Given the description of an element on the screen output the (x, y) to click on. 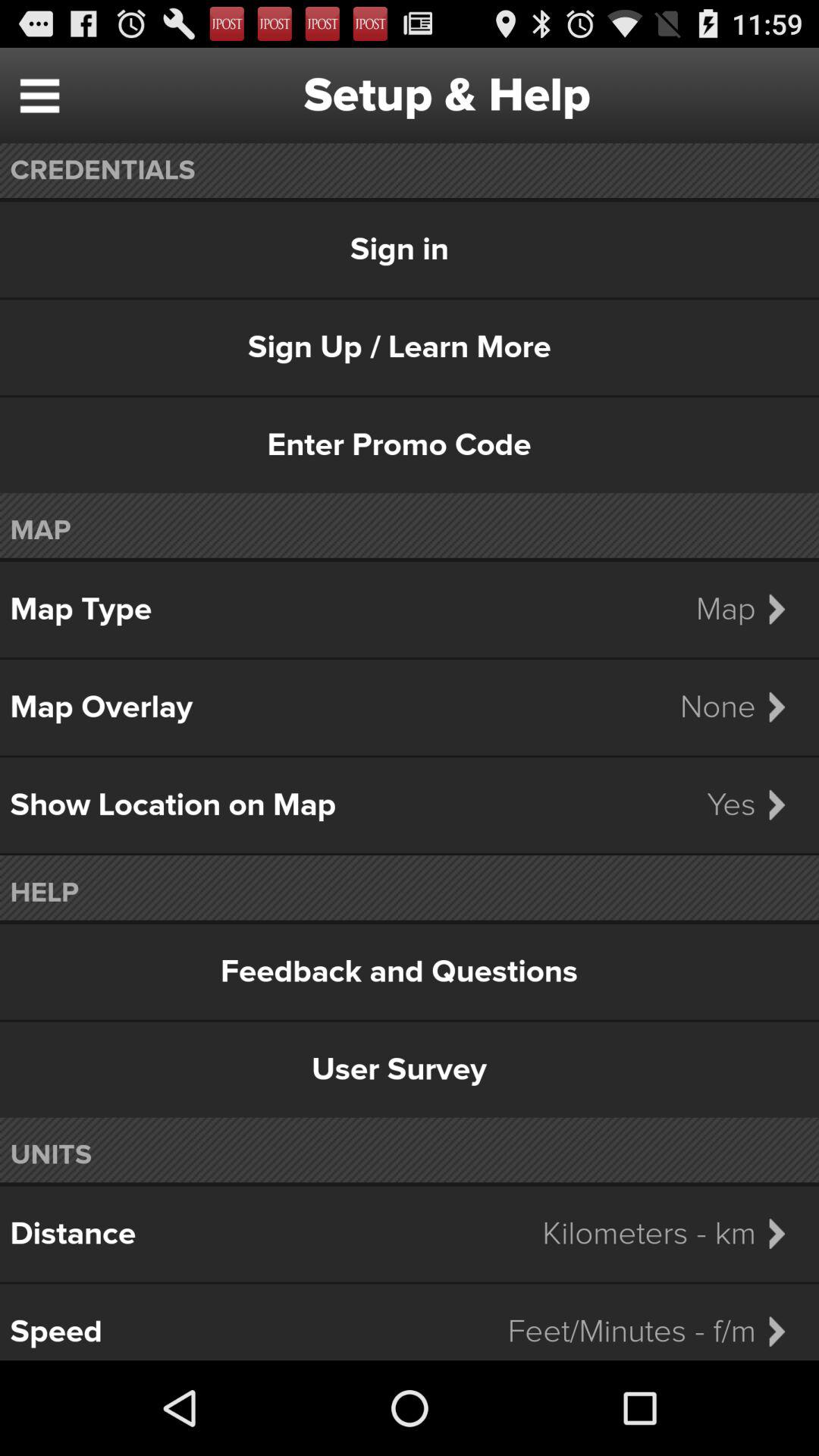
tap feedback and questions item (409, 971)
